Given the description of an element on the screen output the (x, y) to click on. 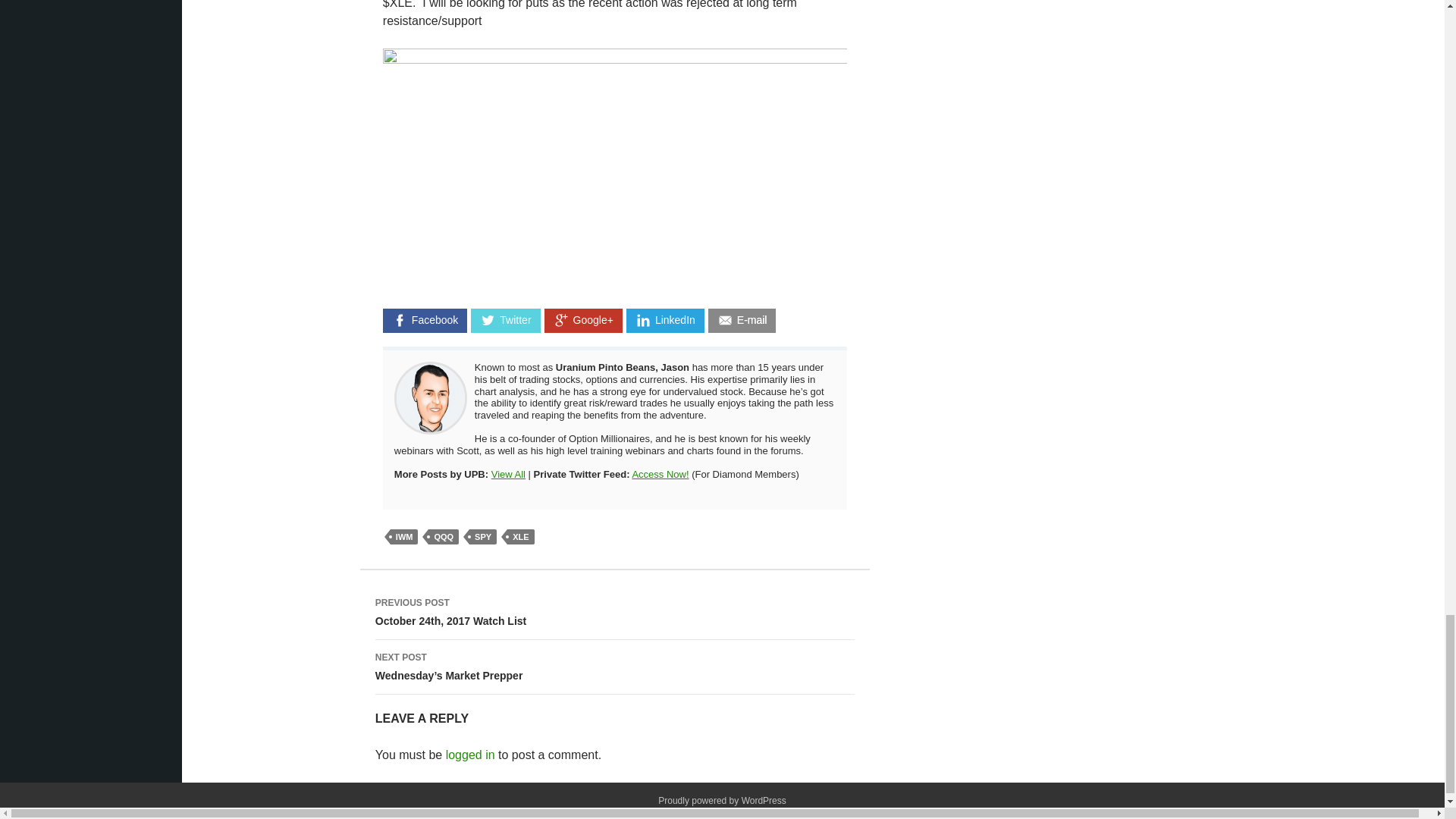
Share this article on Twitter (505, 320)
Share this article on Facebook (424, 320)
Share this article on LinkedIn (665, 320)
